Given the description of an element on the screen output the (x, y) to click on. 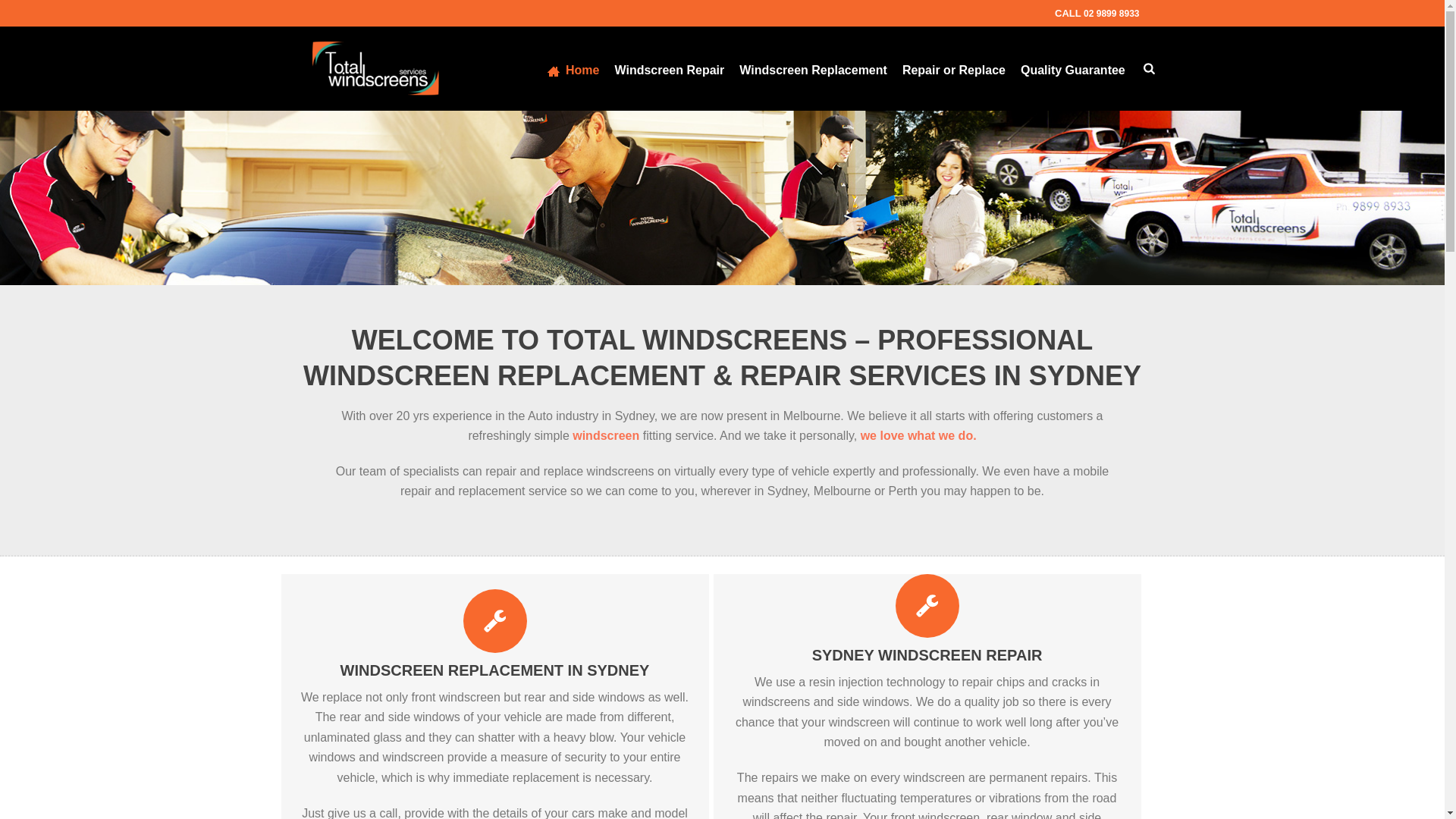
Windscreen Repair (669, 68)
Total Windscreen Repairs (374, 67)
Windscreen Replacement (813, 68)
Repair or Replace (954, 68)
Quality Guarantee (1072, 68)
Quality Guarantee (1072, 68)
Windscreen Replacement (813, 68)
02 9899 8933 (1110, 13)
Windscreen Repair (669, 68)
Repair or Replace (954, 68)
